Given the description of an element on the screen output the (x, y) to click on. 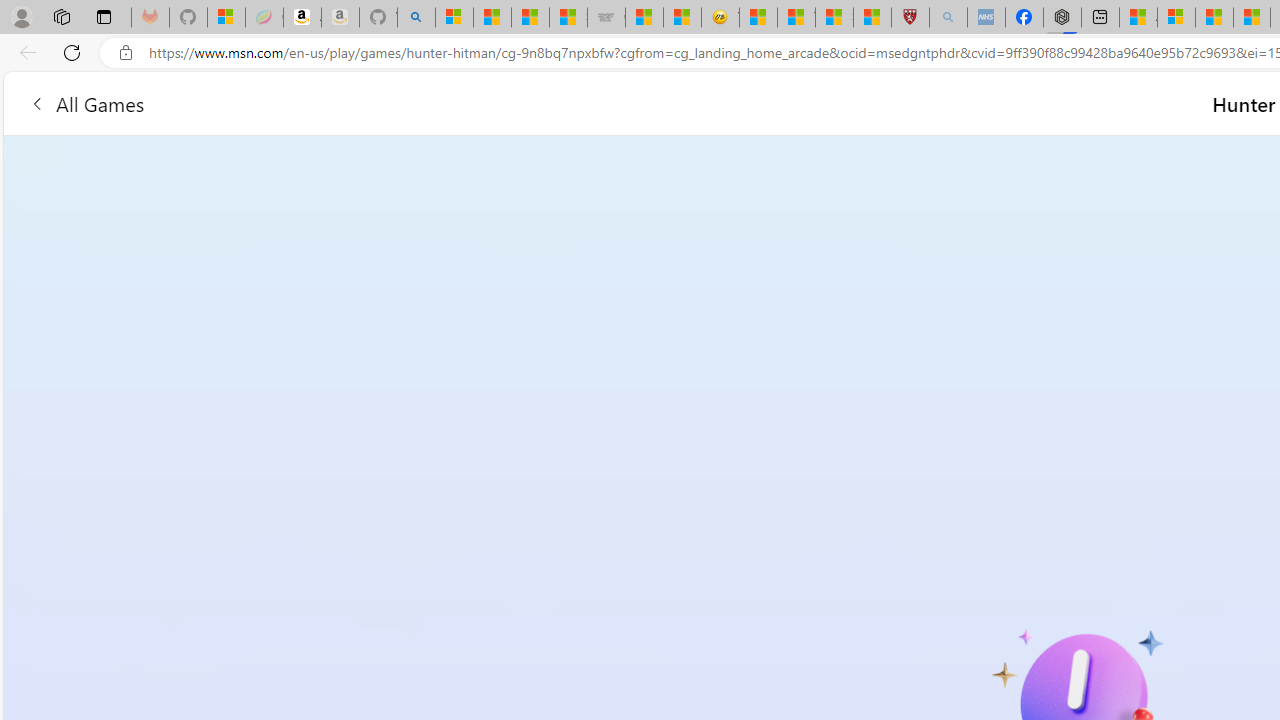
Microsoft Start (1213, 17)
New tab (1099, 17)
Workspaces (61, 16)
NCL Adult Asthma Inhaler Choice Guideline - Sleeping (985, 17)
Stocks - MSN (568, 17)
All Games (86, 102)
